Given the description of an element on the screen output the (x, y) to click on. 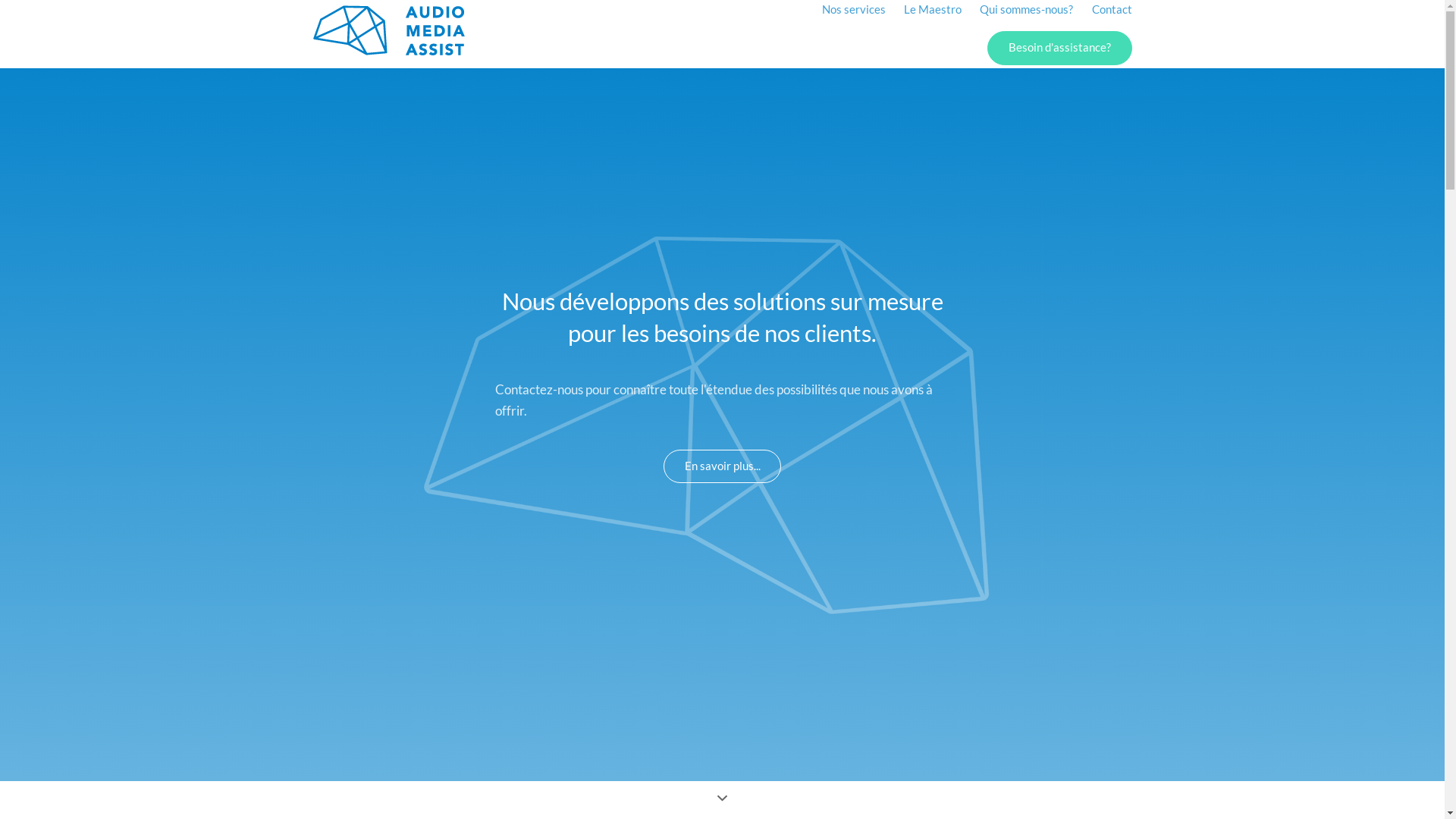
Contact Element type: text (1112, 11)
Le Maestro Element type: text (932, 11)
Besoin d'assistance? Element type: text (72, 205)
Nos services Element type: text (60, 20)
En savoir plus... Element type: text (722, 466)
Qui sommes-nous? Element type: text (61, 115)
Le Maestro Element type: text (57, 62)
Qui sommes-nous? Element type: text (1026, 11)
Besoin d'assistance? Element type: text (1059, 48)
Contact Element type: text (48, 168)
Nos services Element type: text (853, 11)
